Given the description of an element on the screen output the (x, y) to click on. 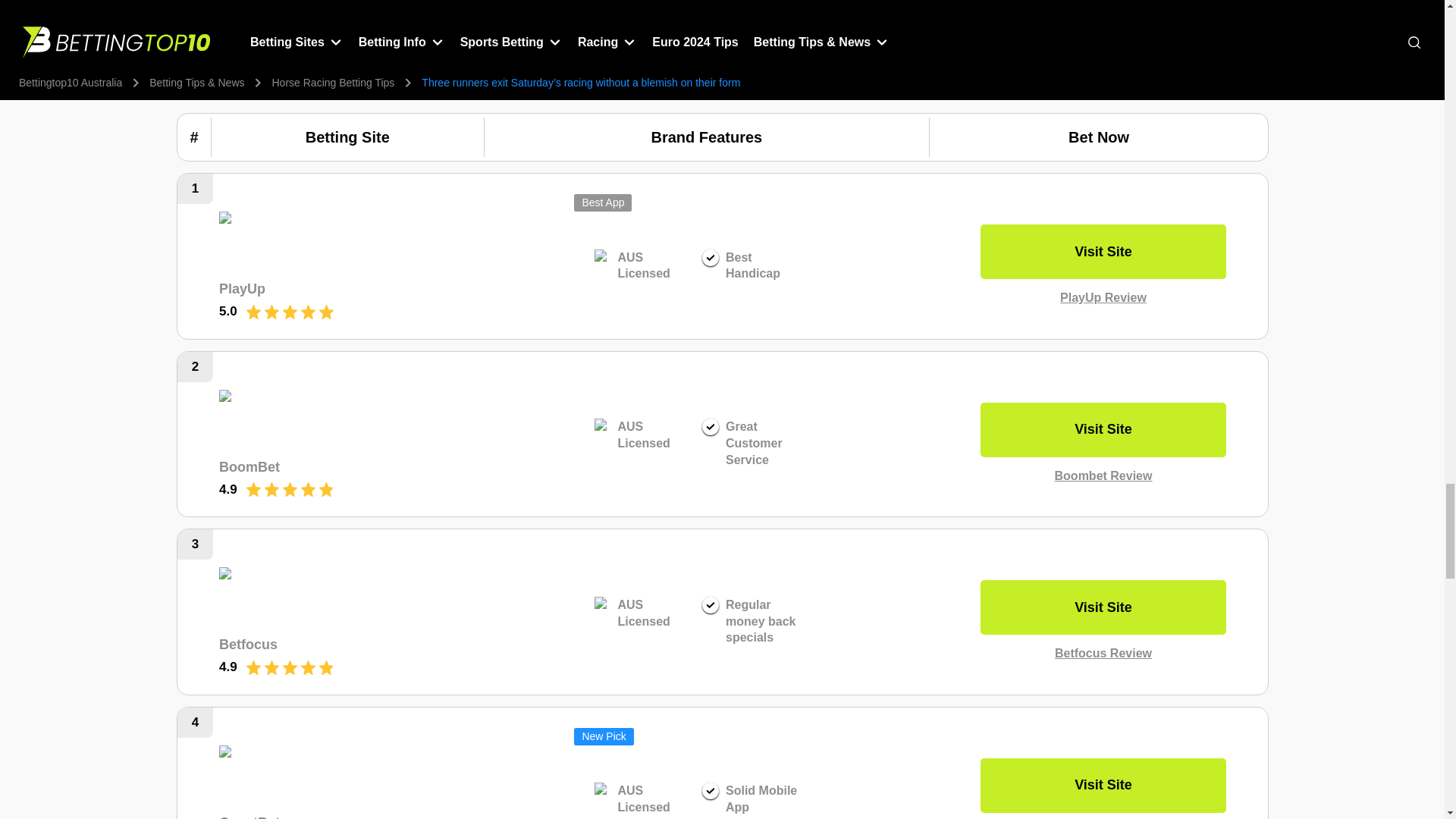
boombet (326, 419)
betfocus (326, 598)
australian-flag-icon-round-32x32.webp (602, 257)
australian-flag-icon-round-32x32.webp (602, 427)
playup-white (326, 241)
